Given the description of an element on the screen output the (x, y) to click on. 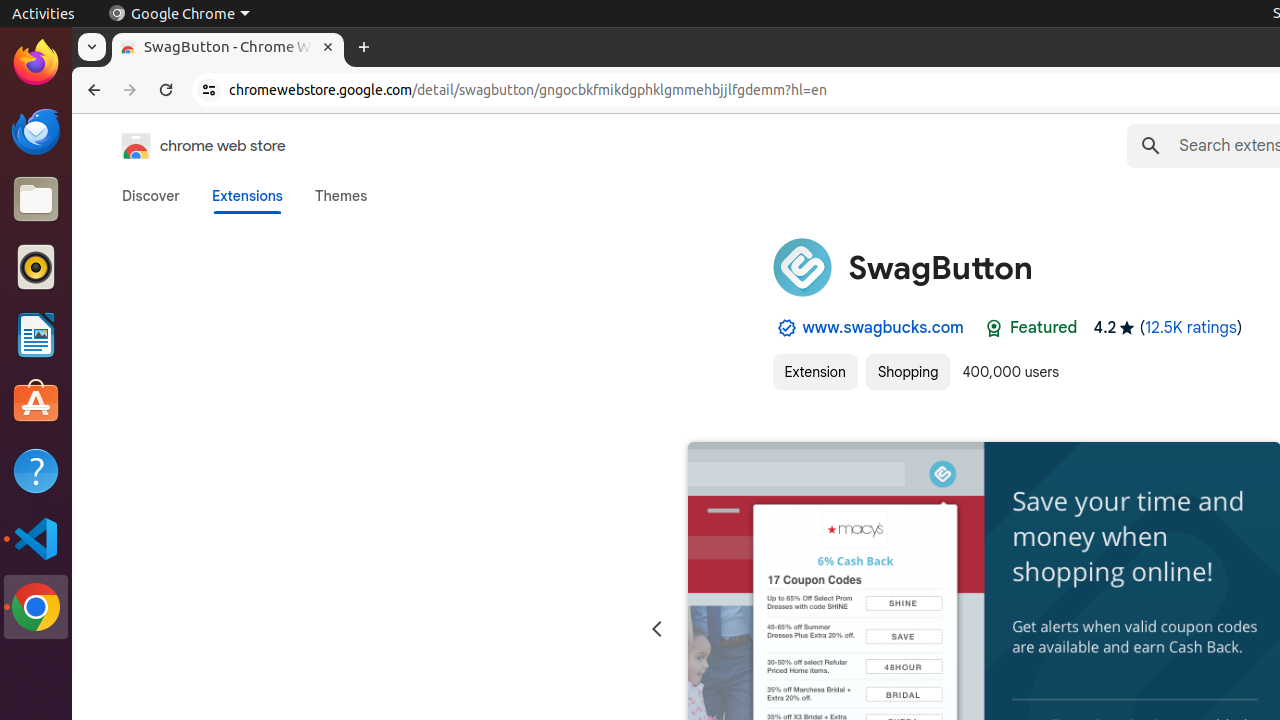
Chrome Web Store logo chrome web store Element type: link (183, 146)
Featured Badge Element type: push-button (993, 328)
Ubuntu Software Element type: push-button (36, 402)
Discover Element type: page-tab (151, 196)
LibreOffice Writer Element type: push-button (36, 334)
